Given the description of an element on the screen output the (x, y) to click on. 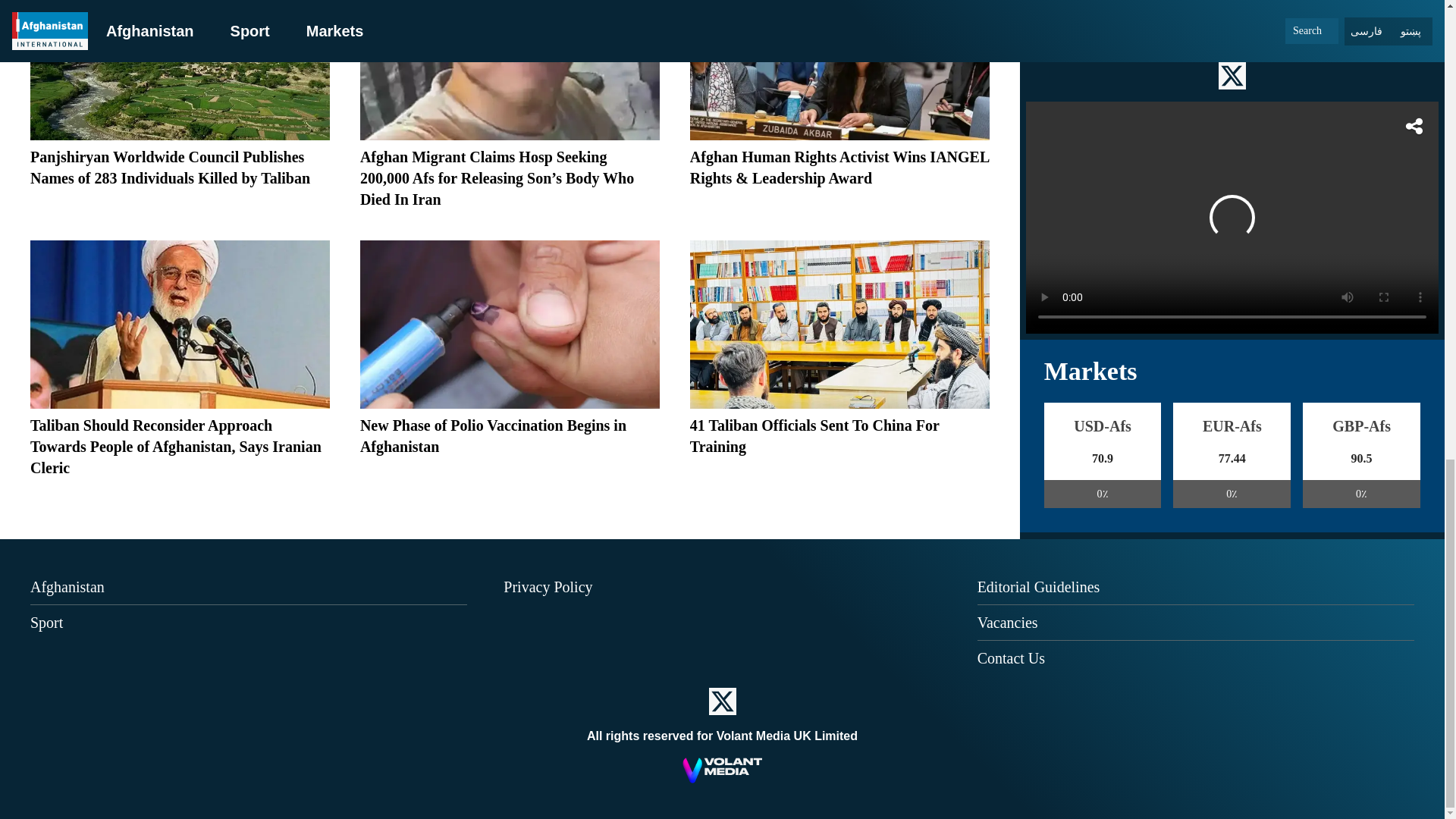
Privacy Policy (547, 586)
New Phase of Polio Vaccination Begins in Afghanistan (492, 435)
41 Taliban Officials Sent To China For Training (814, 435)
Vacancies (1007, 622)
Editorial Guidelines (1038, 586)
Sport (46, 622)
Contact Us (1010, 658)
Afghanistan (67, 586)
